Given the description of an element on the screen output the (x, y) to click on. 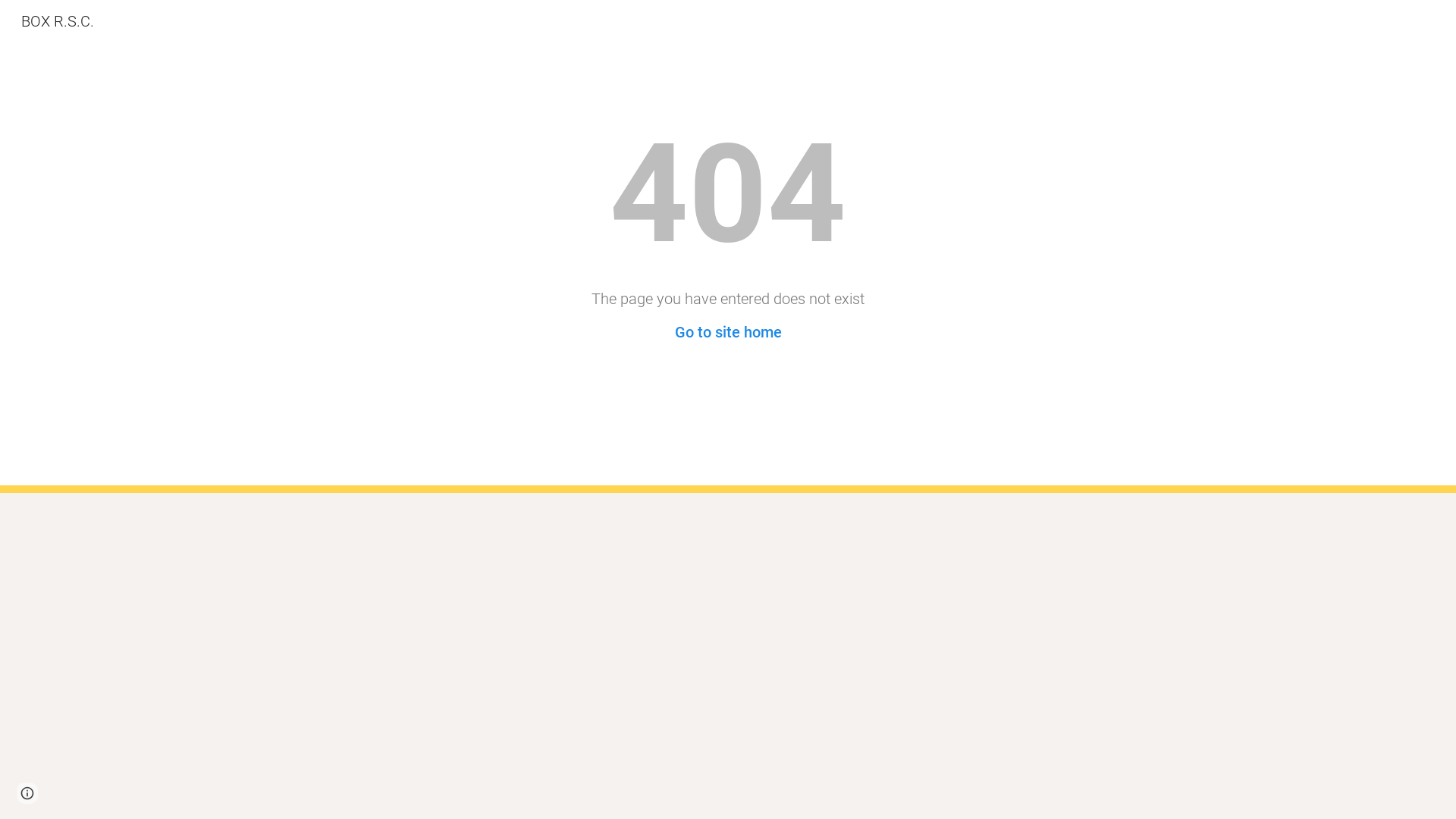
Go to site home Element type: text (727, 332)
BOX R.S.C. Element type: text (57, 19)
